Given the description of an element on the screen output the (x, y) to click on. 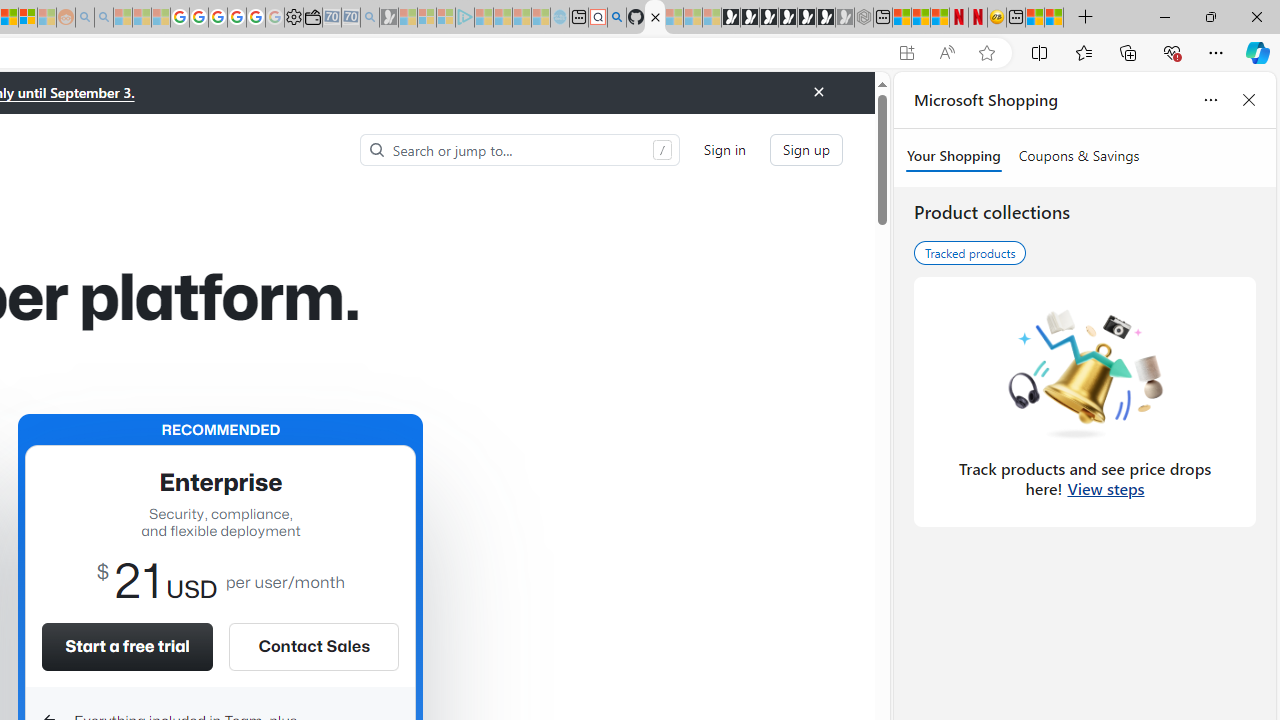
App available. Install GitHub (906, 53)
